Given the description of an element on the screen output the (x, y) to click on. 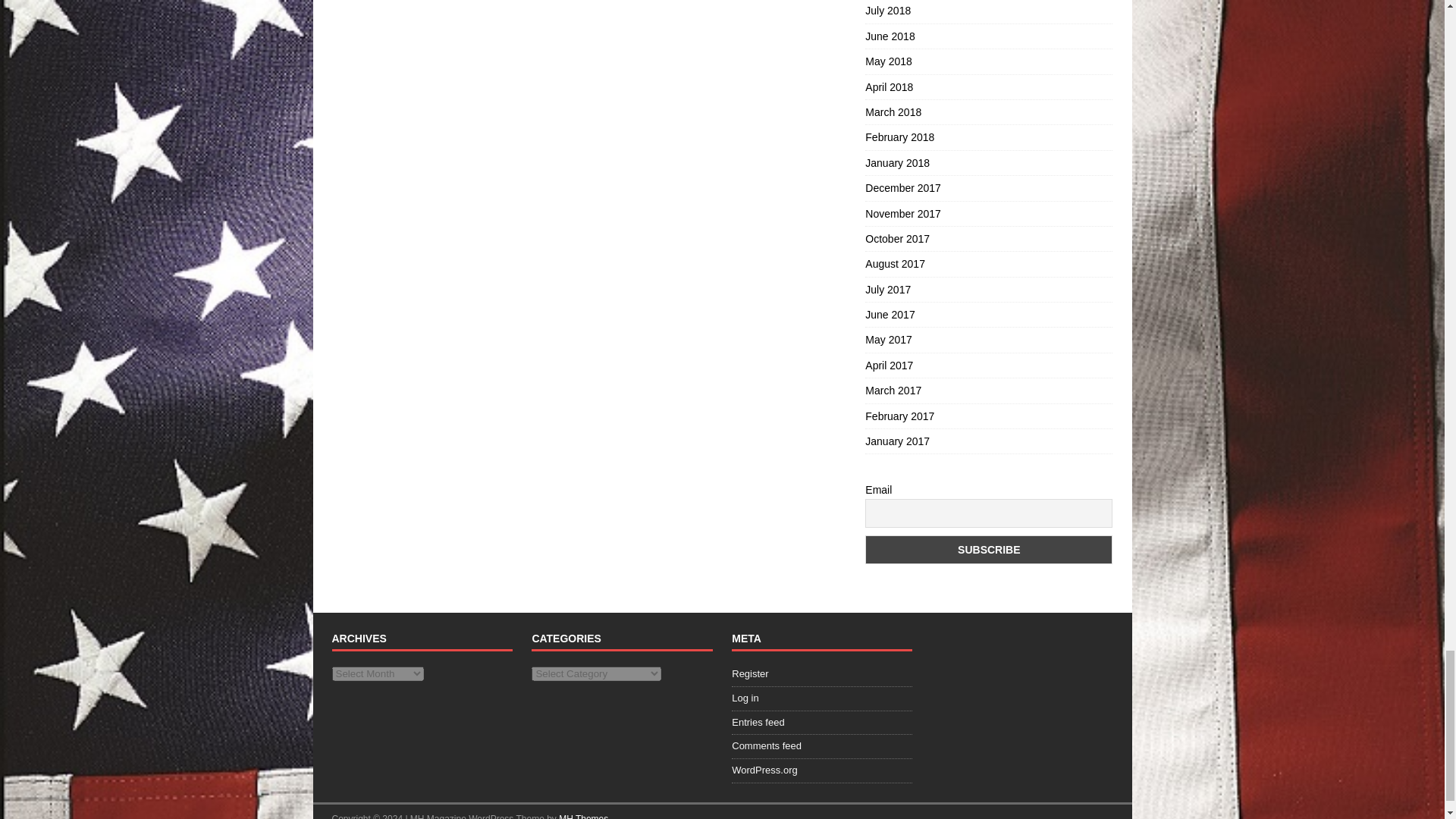
Subscribe (988, 549)
